Given the description of an element on the screen output the (x, y) to click on. 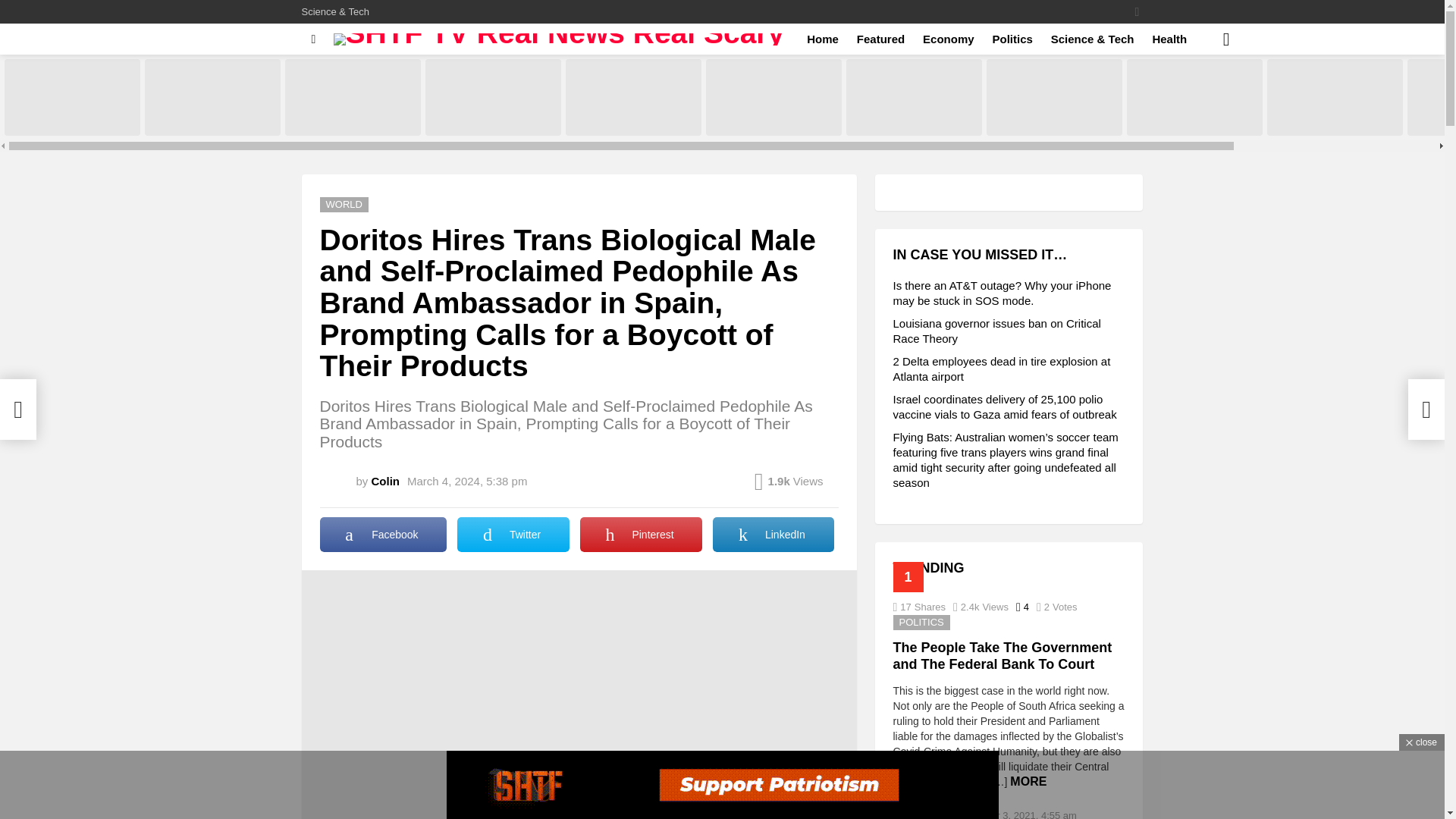
Menu (313, 39)
Featured (880, 38)
Health (1168, 38)
Economy (948, 38)
Share on Facebook (383, 534)
Louisiana governor issues ban on Critical Race Theory (212, 96)
Posts by Colin (385, 481)
